Given the description of an element on the screen output the (x, y) to click on. 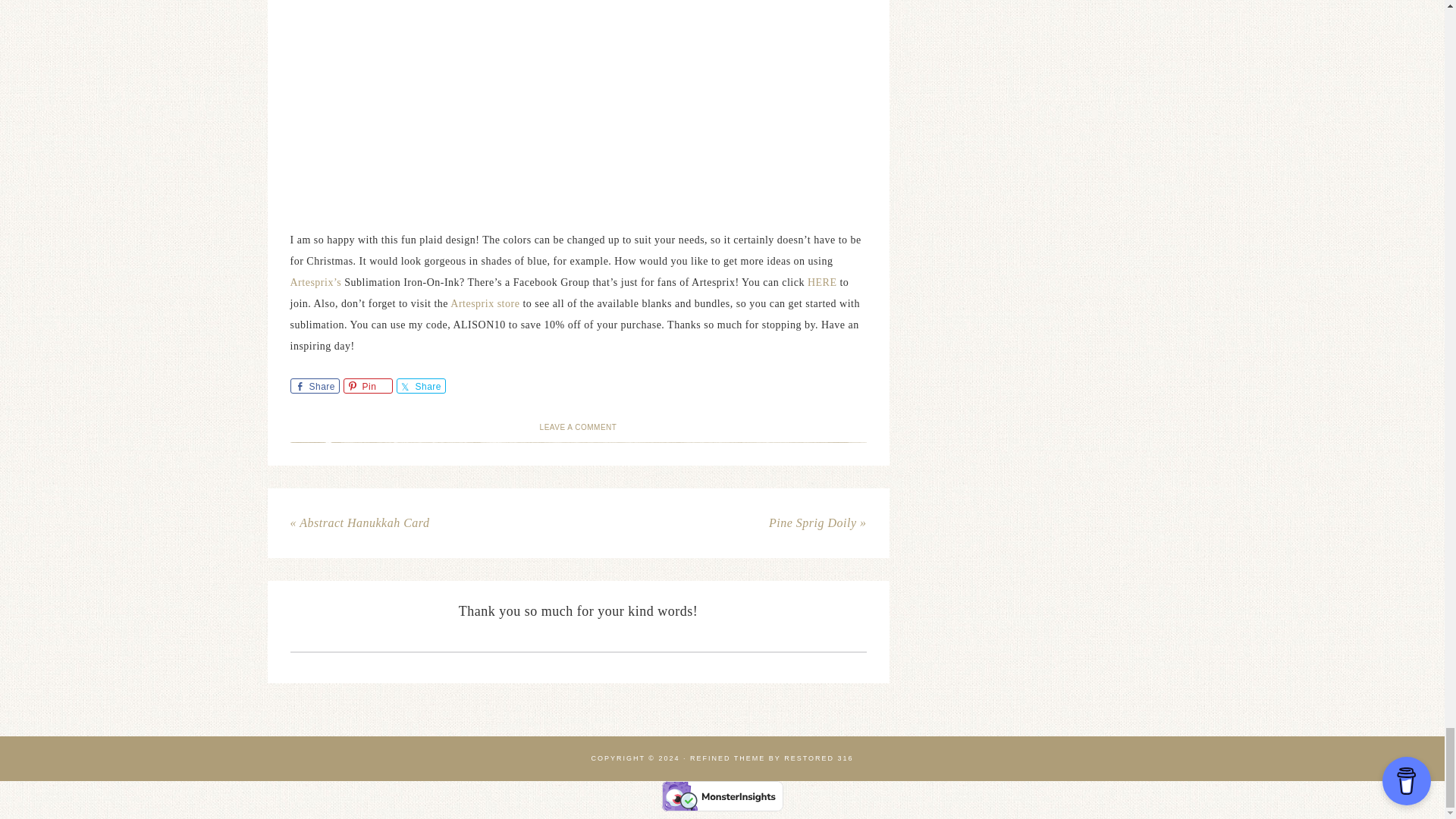
Share (314, 385)
Artesprix store (483, 303)
Pin (366, 385)
Verified by MonsterInsights (722, 796)
LEAVE A COMMENT (578, 427)
Share (420, 385)
HERE (821, 282)
